Given the description of an element on the screen output the (x, y) to click on. 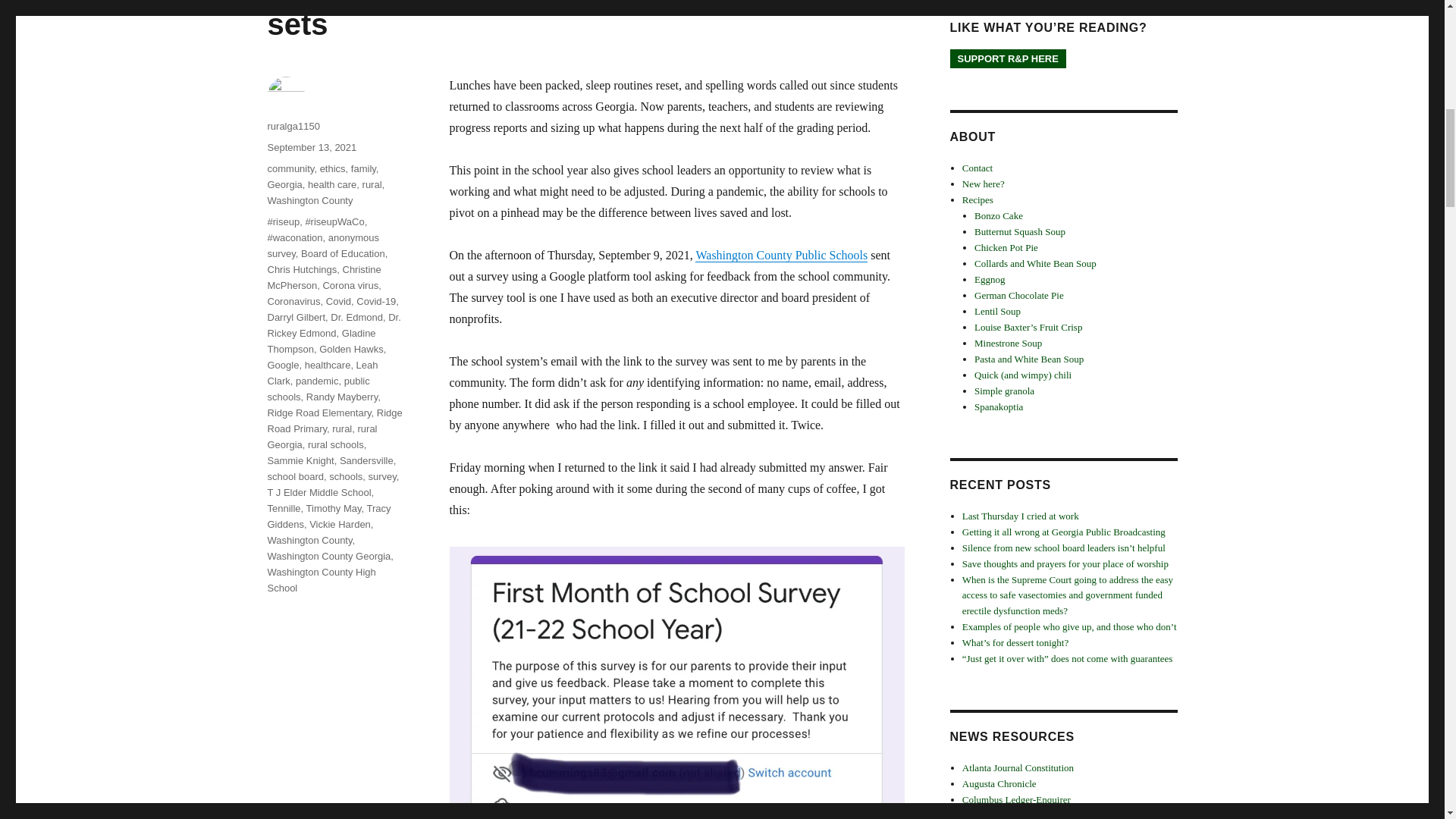
Washington County (309, 200)
Georgia (283, 184)
September 13, 2021 (311, 147)
Covid (338, 301)
family (362, 168)
Google (282, 365)
Washington County Public Schools (781, 254)
Corona virus (349, 285)
healthcare (327, 365)
Board of Education (343, 253)
Chris Hutchings (301, 269)
A survey is only as good as the controls it sets (570, 20)
Christine McPherson (323, 277)
Dr. Edmond (356, 317)
ruralga1150 (292, 125)
